Given the description of an element on the screen output the (x, y) to click on. 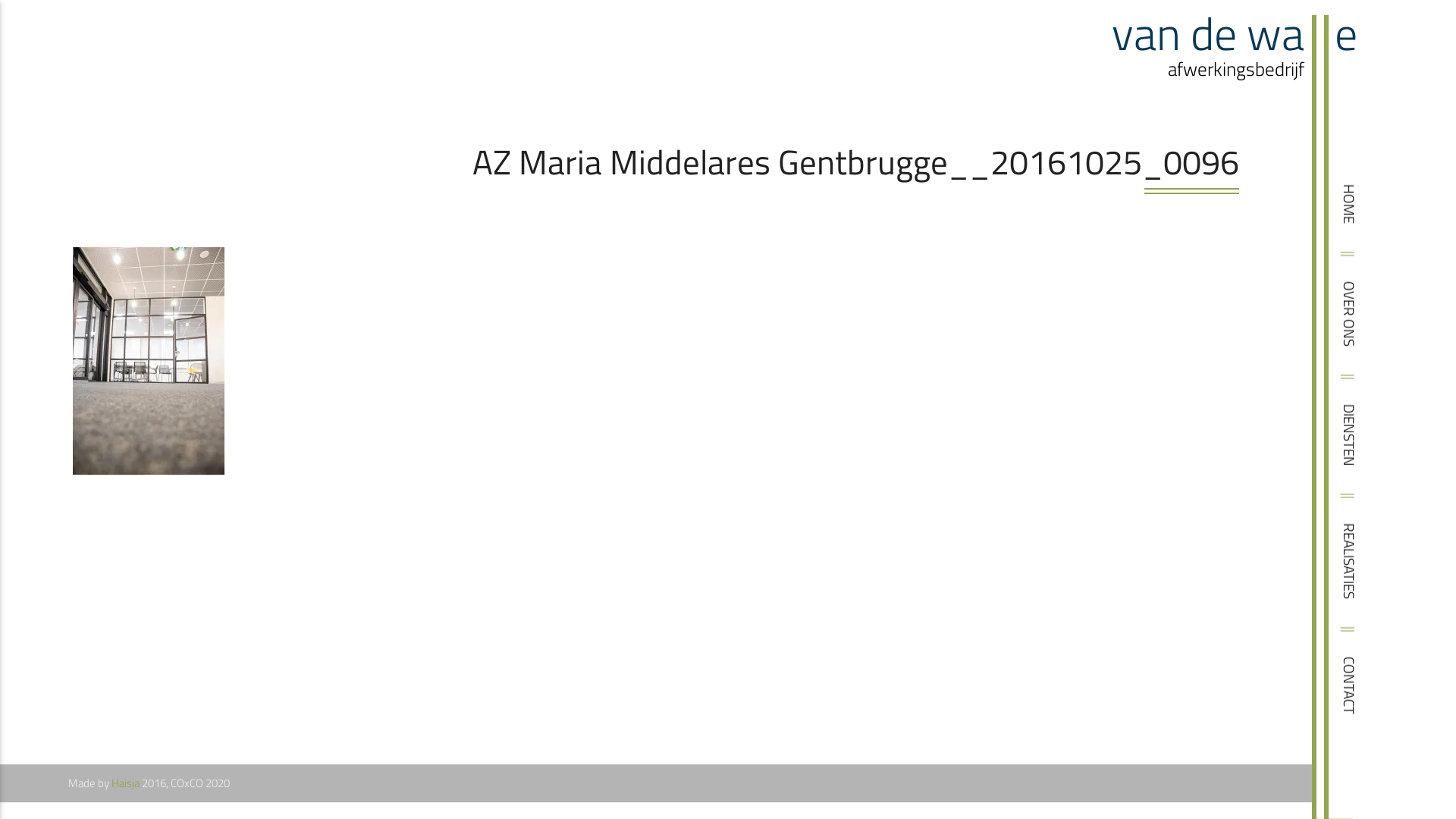
OVER ONS Element type: text (1382, 297)
Haisja Element type: text (125, 782)
CONTACT Element type: text (1361, 672)
REALISATIES Element type: text (1387, 539)
DIENSTEN Element type: text (1380, 419)
HOME Element type: text (1369, 200)
